Given the description of an element on the screen output the (x, y) to click on. 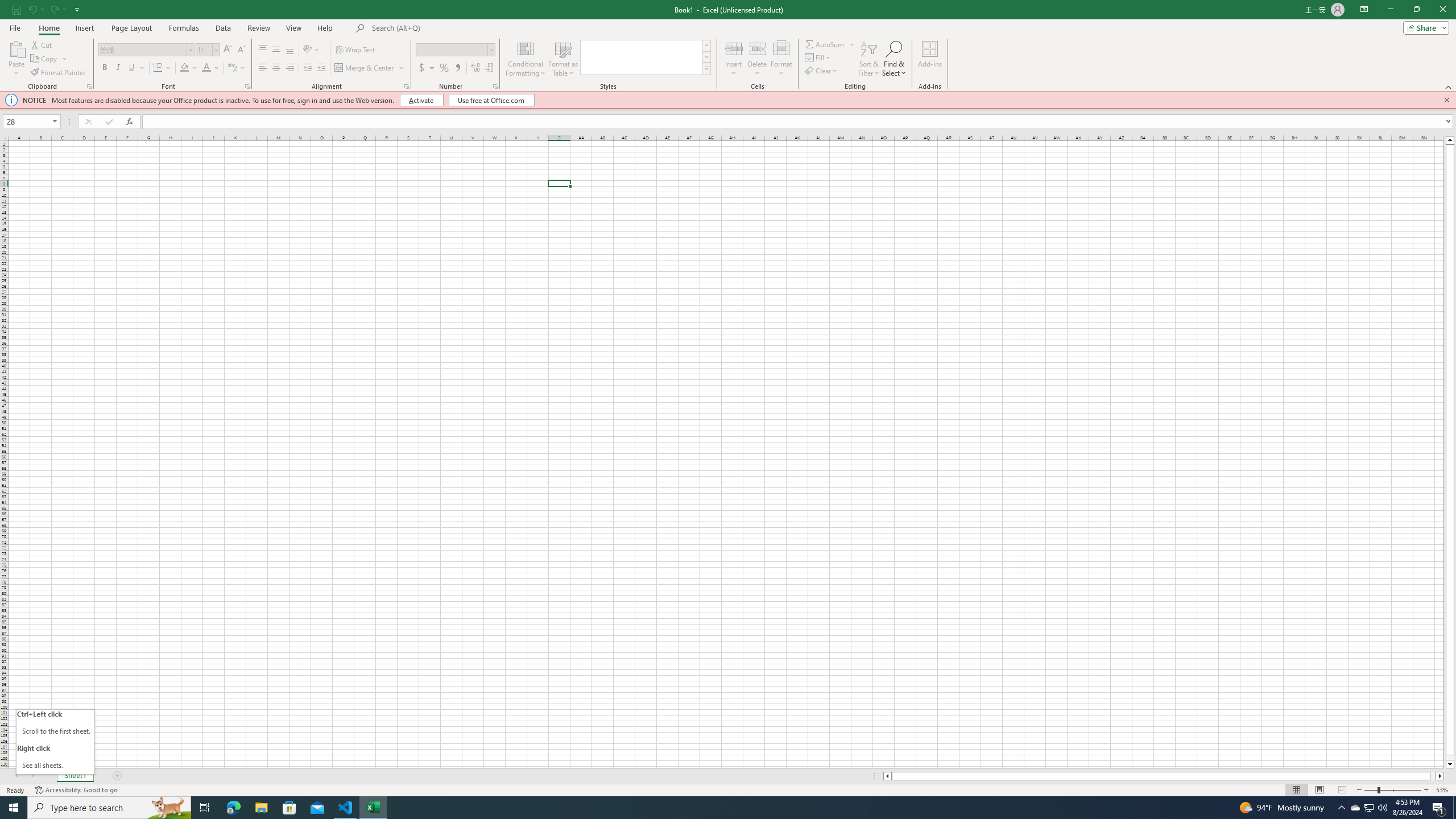
Orientation (311, 49)
Customize Quick Access Toolbar (77, 9)
Page Layout (1318, 790)
Cell Styles (705, 68)
Scroll Right (32, 775)
Restore Down (1416, 9)
Underline (136, 67)
Paste (16, 58)
Fill Color (188, 67)
Font Size (204, 49)
Accounting Number Format (422, 67)
Line down (1449, 764)
Row up (705, 45)
Wrap Text (355, 49)
